Given the description of an element on the screen output the (x, y) to click on. 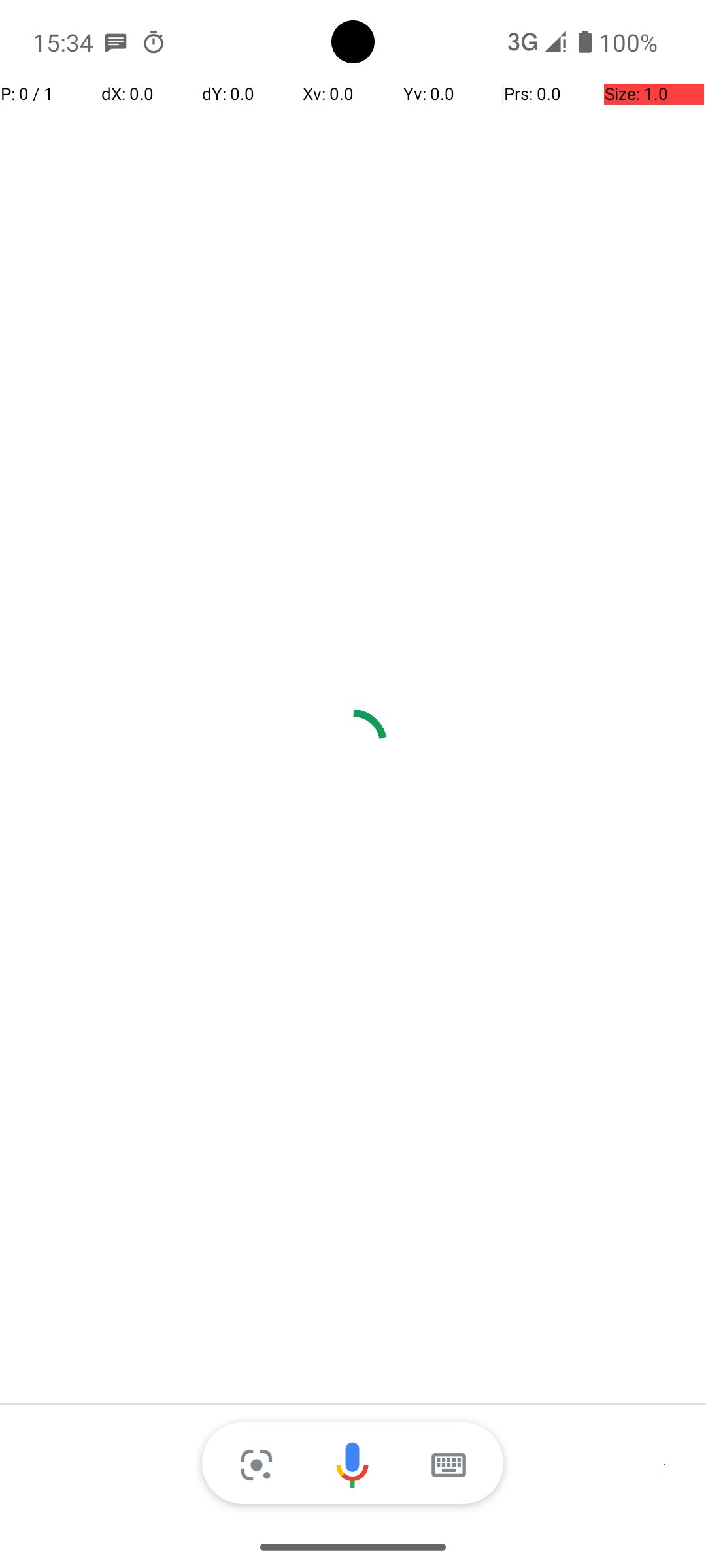
Assistant Element type: android.widget.RelativeLayout (353, 1464)
Lens icon Element type: android.widget.ImageView (256, 1465)
